Given the description of an element on the screen output the (x, y) to click on. 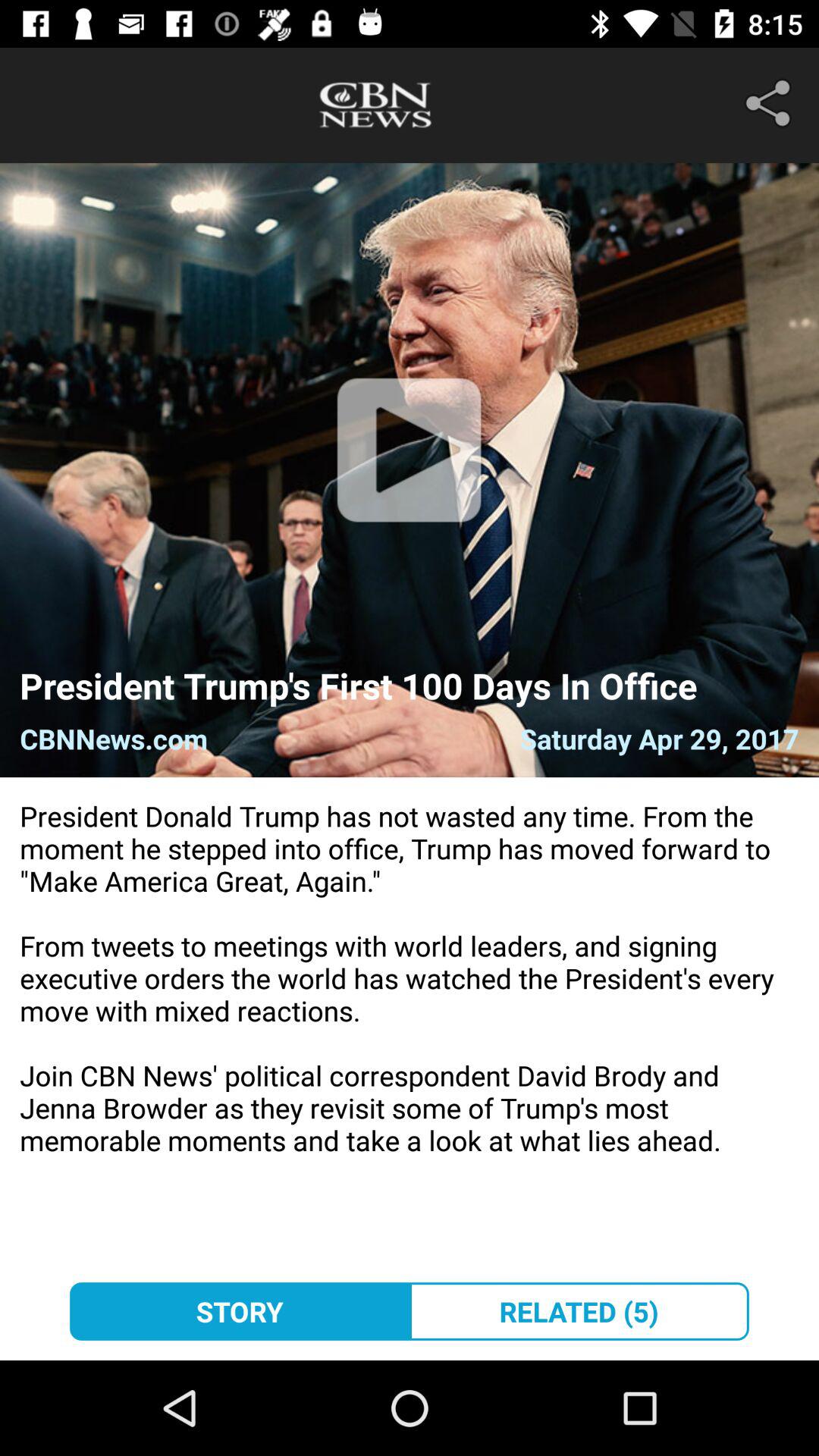
select the icon next to the related (5) icon (239, 1311)
